Given the description of an element on the screen output the (x, y) to click on. 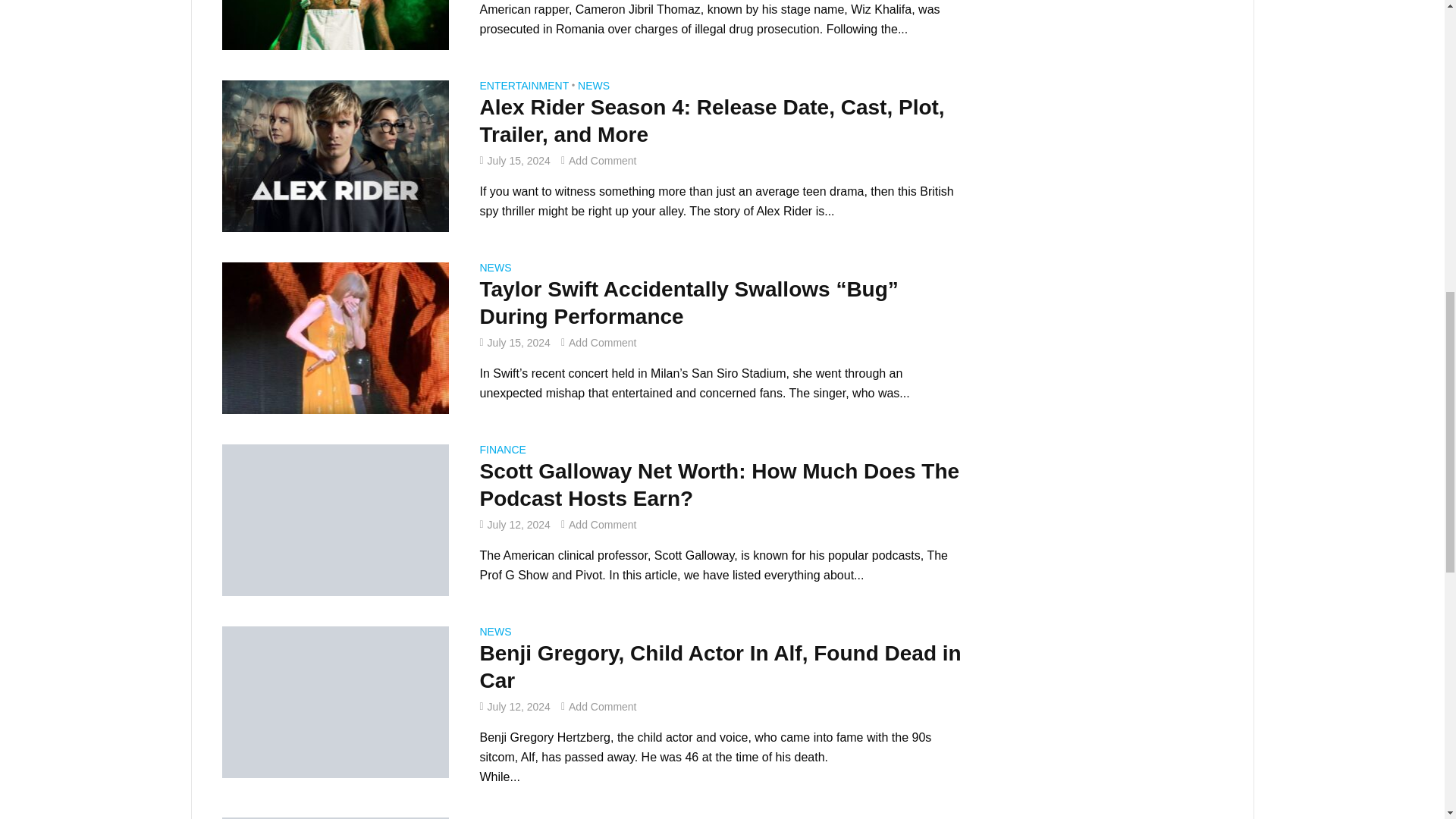
Benji Gregory, Child Actor In Alf, Found Dead in Car (334, 700)
